Given the description of an element on the screen output the (x, y) to click on. 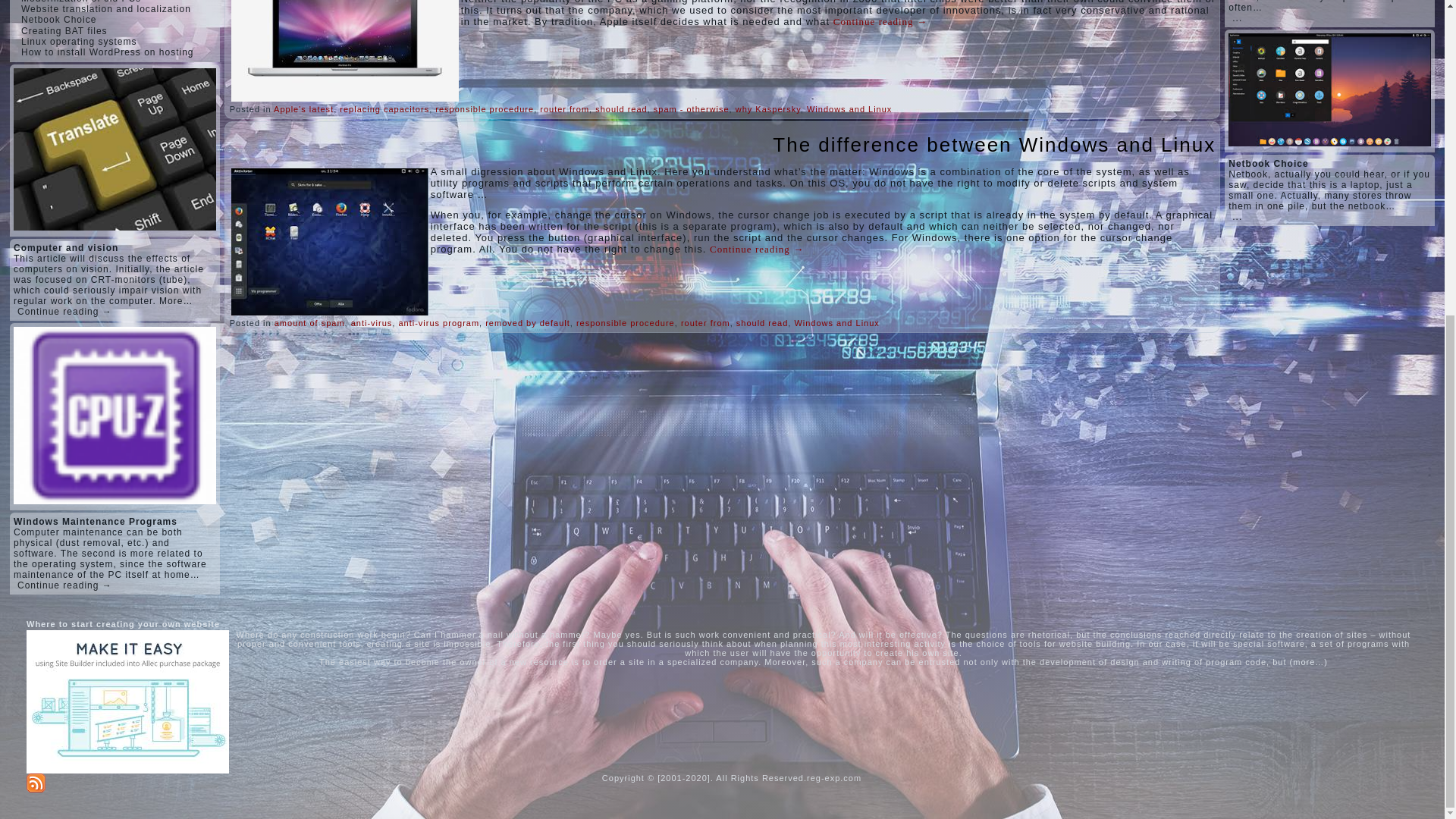
responsible procedure (484, 108)
Modernization of old PCs (81, 2)
Modernization of old PCs (81, 2)
Apple's latest (303, 108)
How to install WordPress on hosting (107, 51)
Website translation and localization (105, 9)
spam - otherwise (691, 108)
Linux operating systems (78, 41)
Creating BAT files (64, 30)
router from (564, 108)
Netbook Choice (58, 19)
replacing capacitors (384, 108)
should read (621, 108)
Website translation and localization (105, 9)
why Kaspersky (767, 108)
